Given the description of an element on the screen output the (x, y) to click on. 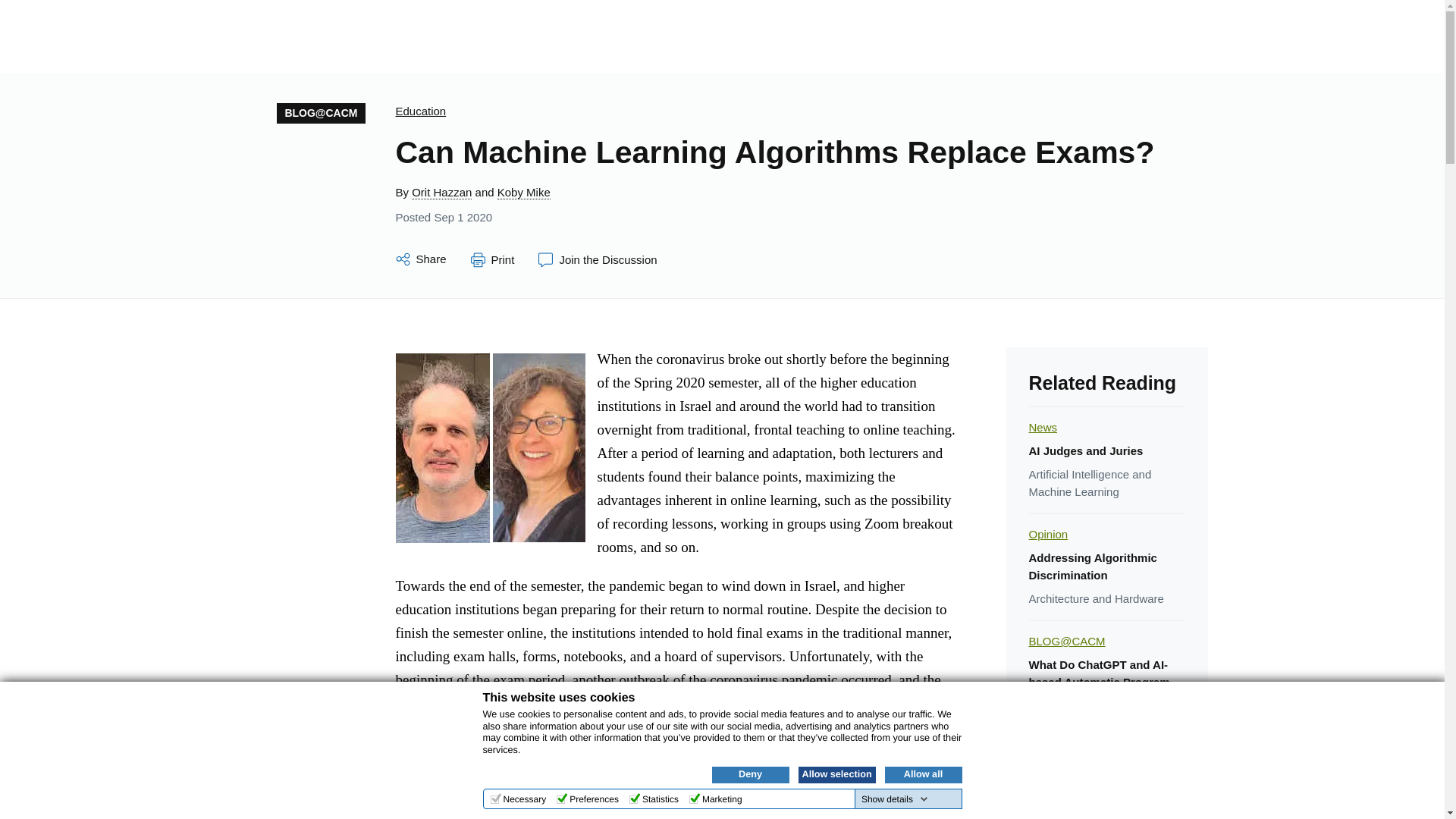
Deny (750, 774)
Show details (895, 799)
Allow all (921, 774)
Allow selection (836, 774)
